Given the description of an element on the screen output the (x, y) to click on. 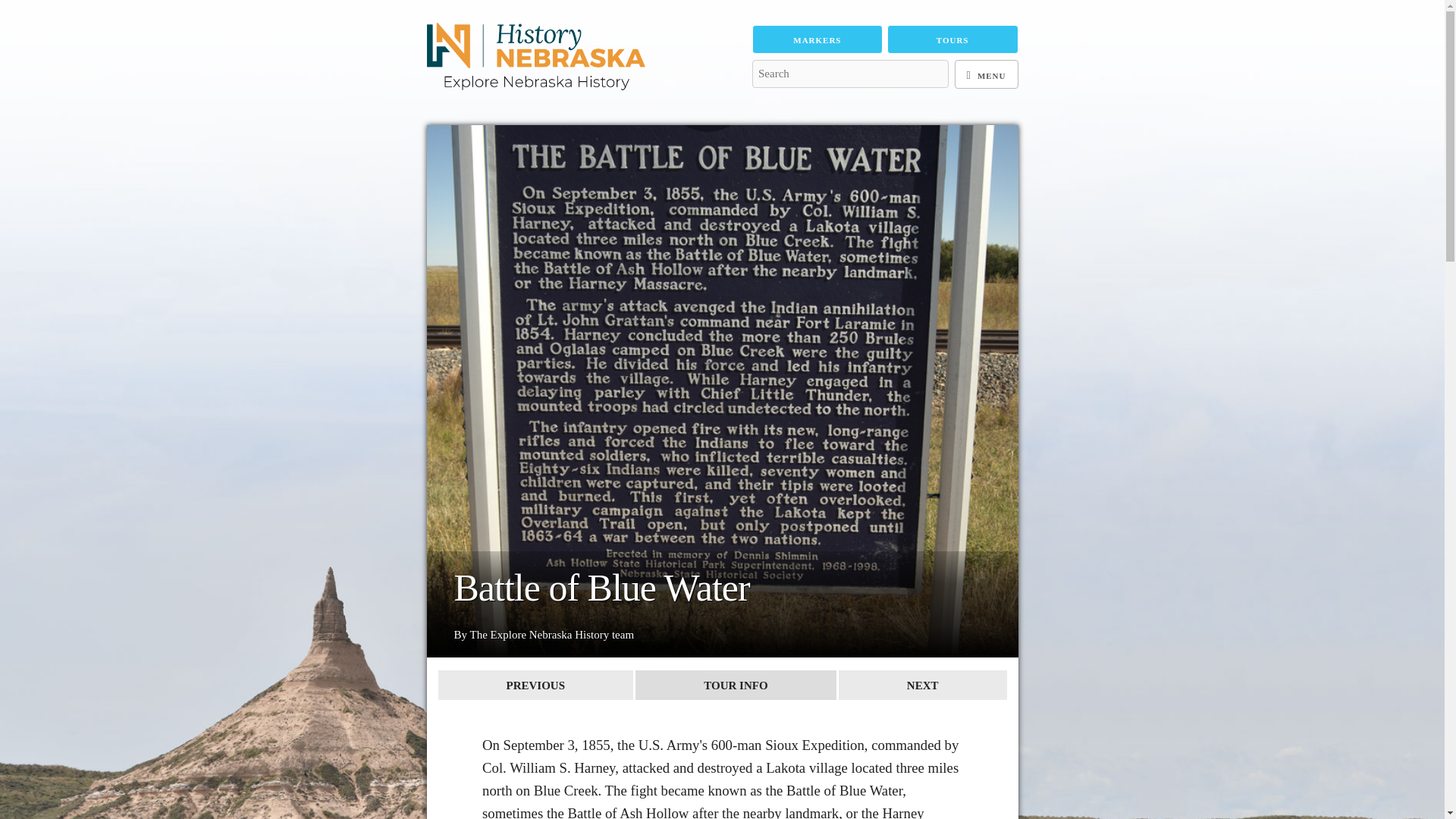
Previous stop on Tour (535, 685)
Submit (774, 101)
TOUR INFO (734, 685)
TOURS (951, 39)
NEXT (922, 685)
Next stop on Tour (922, 685)
MARKERS (817, 39)
Submit (774, 101)
Menu (986, 74)
PREVIOUS (535, 685)
View Tour: Native Americans in Nebraska (734, 685)
